Given the description of an element on the screen output the (x, y) to click on. 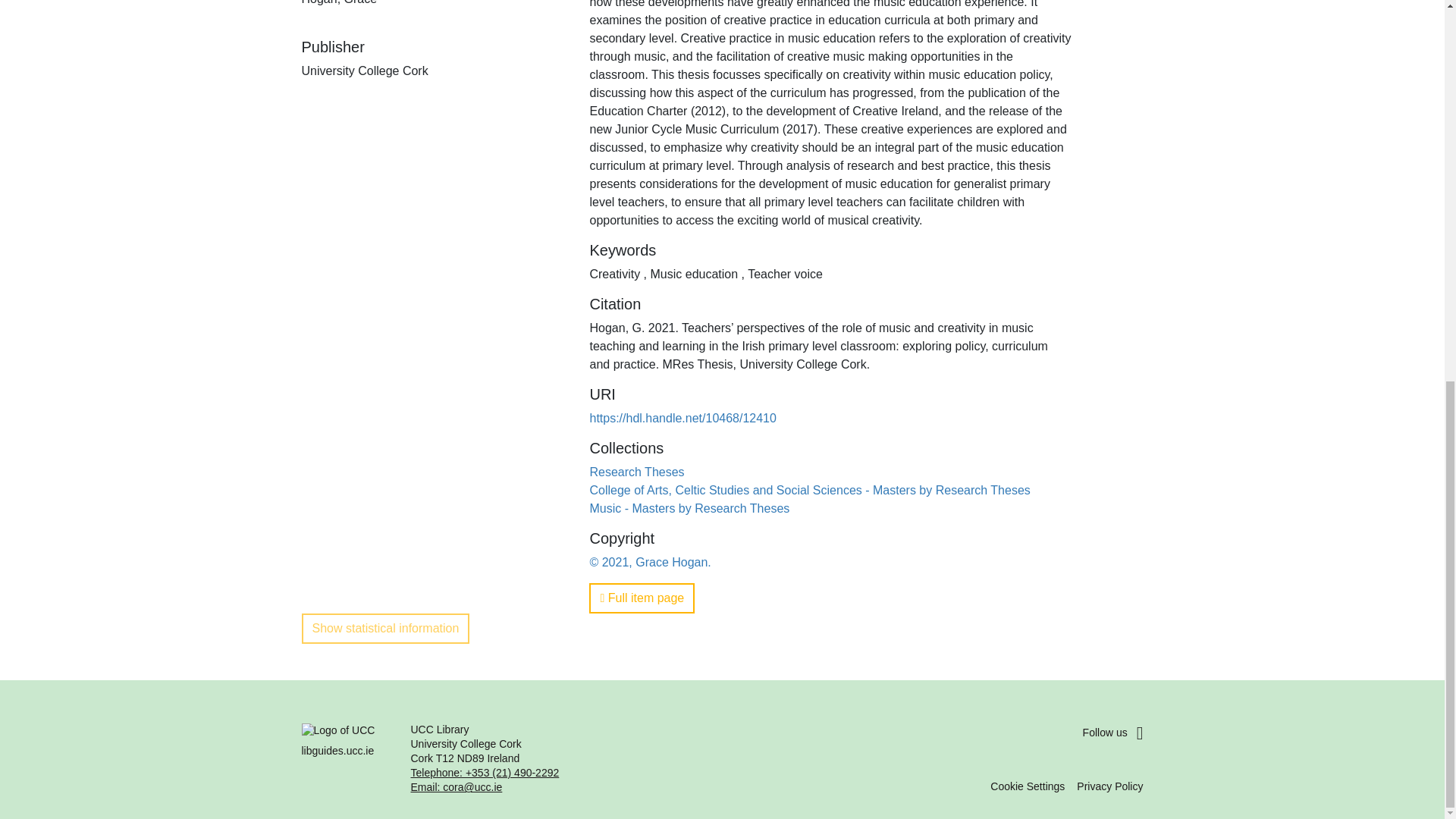
Show statistical information (385, 628)
Privacy Policy (1109, 786)
Full item page (641, 598)
Cookie Settings (1027, 786)
libguides.ucc.ie (347, 758)
Music - Masters by Research Theses (689, 508)
Research Theses (636, 472)
